Given the description of an element on the screen output the (x, y) to click on. 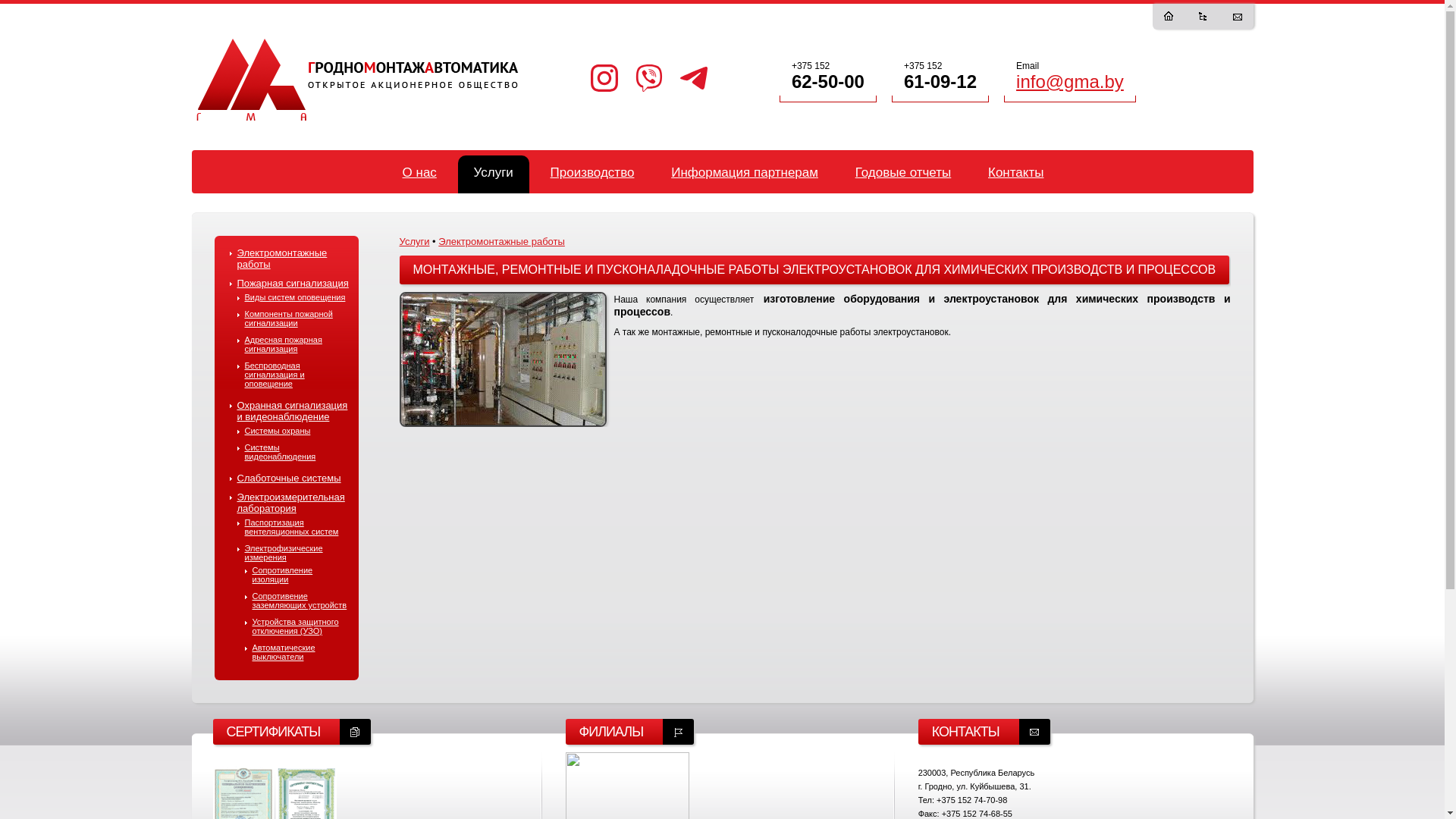
info@gma.by Element type: text (1069, 81)
